Given the description of an element on the screen output the (x, y) to click on. 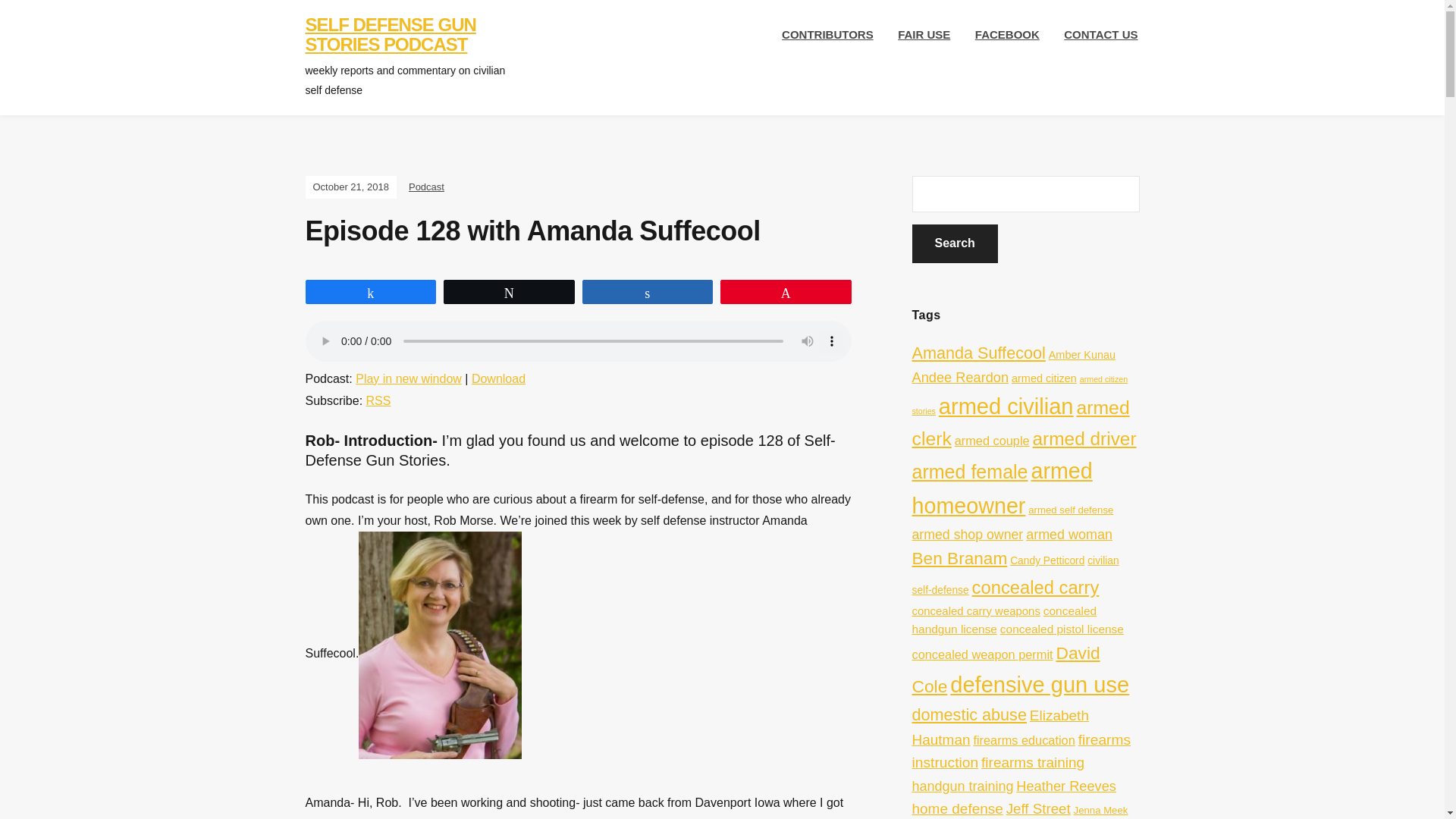
Download (498, 378)
Subscribe via RSS (378, 400)
CONTACT US (1100, 34)
Download (498, 378)
Play in new window (408, 378)
Play in new window (408, 378)
Podcast (426, 186)
FACEBOOK (1007, 34)
FAIR USE (924, 34)
CONTRIBUTORS (827, 34)
SELF DEFENSE GUN STORIES PODCAST (390, 34)
RSS (378, 400)
Search (954, 243)
